Given the description of an element on the screen output the (x, y) to click on. 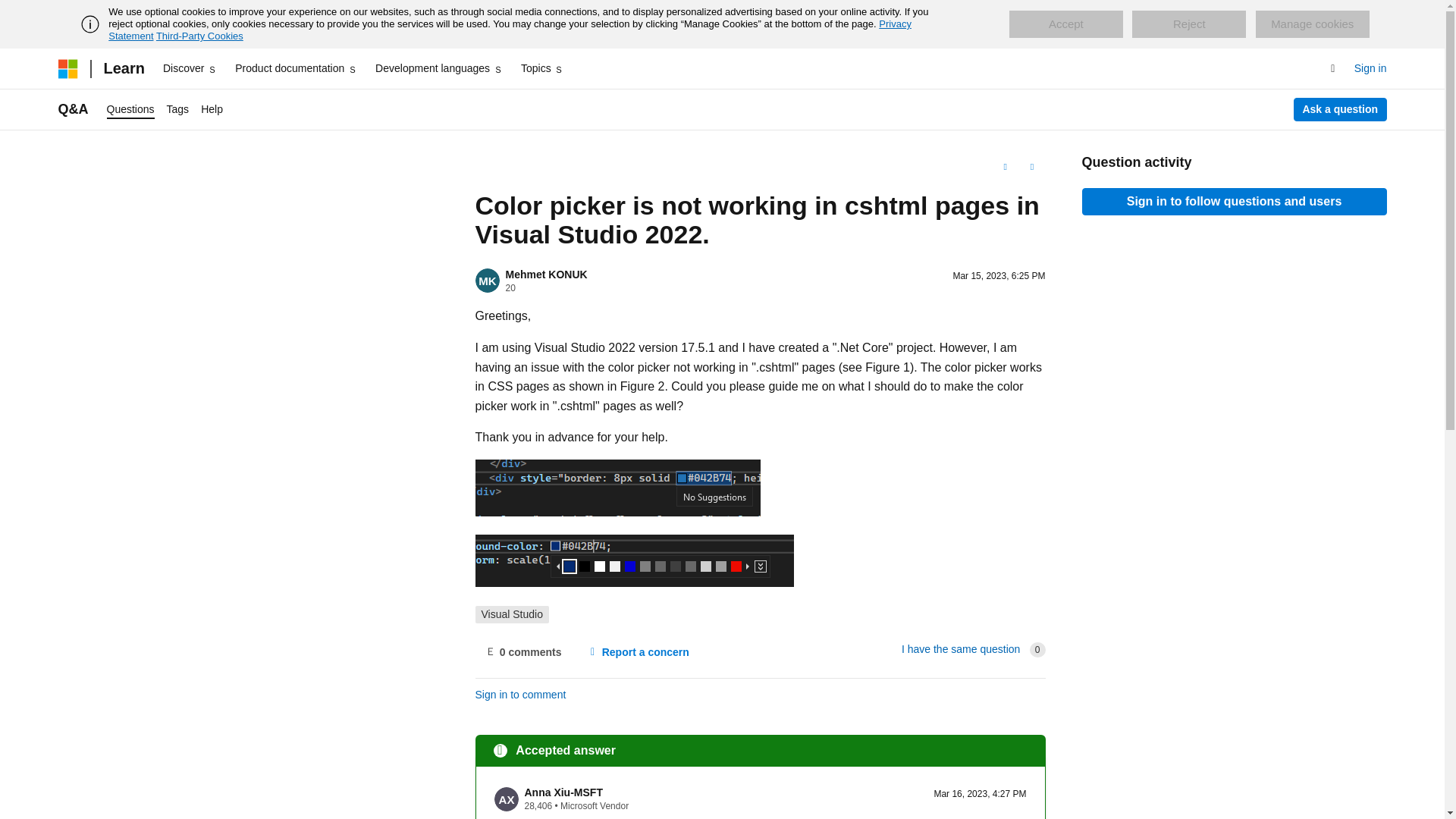
Reputation points (510, 287)
Questions (130, 109)
No comments (522, 651)
Reject (1189, 23)
Third-Party Cookies (199, 35)
Sign in (1370, 68)
Share this question (1031, 166)
Discover (189, 68)
Mehmet KONUK (545, 274)
Accept (1065, 23)
